Given the description of an element on the screen output the (x, y) to click on. 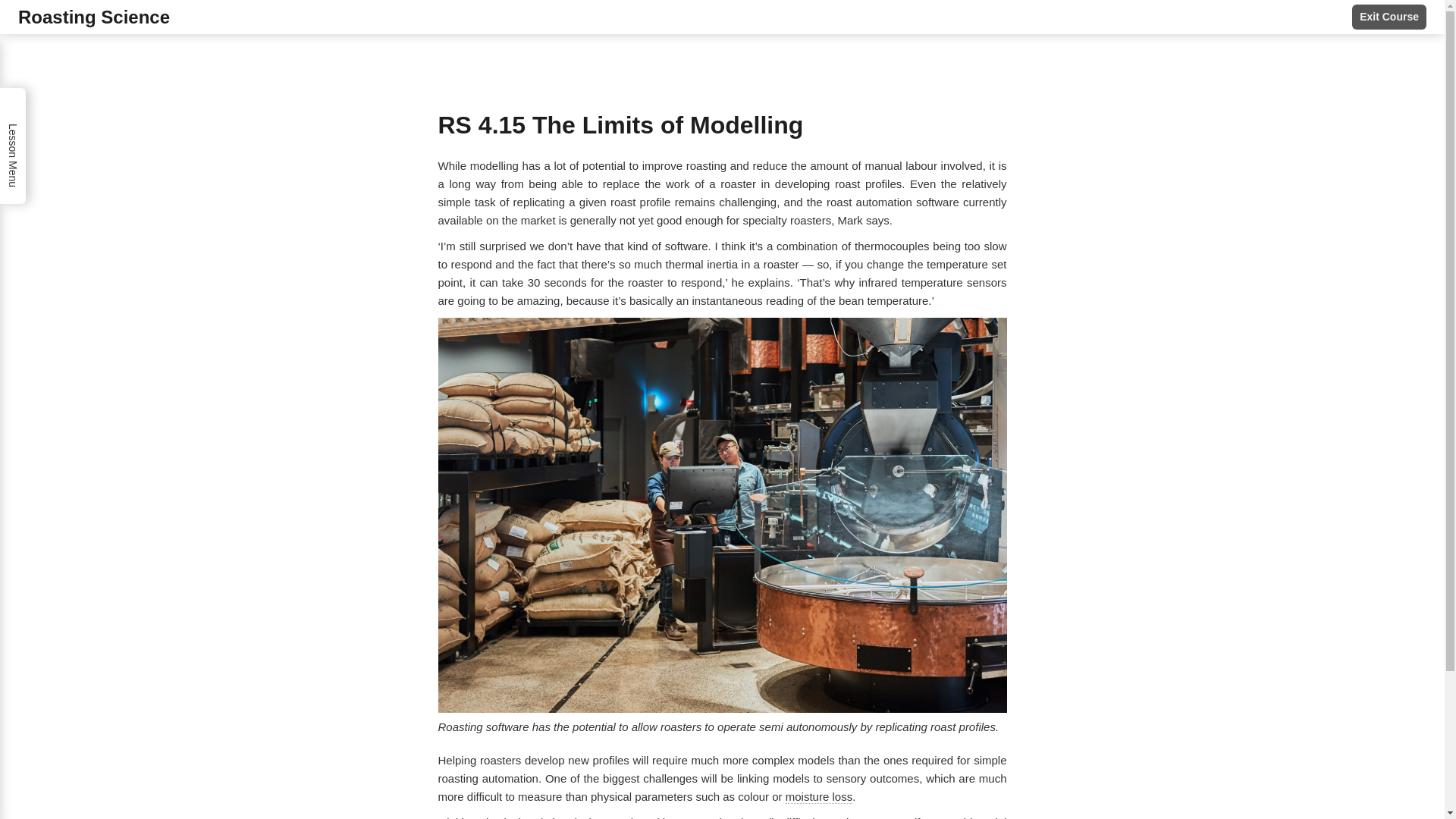
Exit Course (1389, 17)
